Given the description of an element on the screen output the (x, y) to click on. 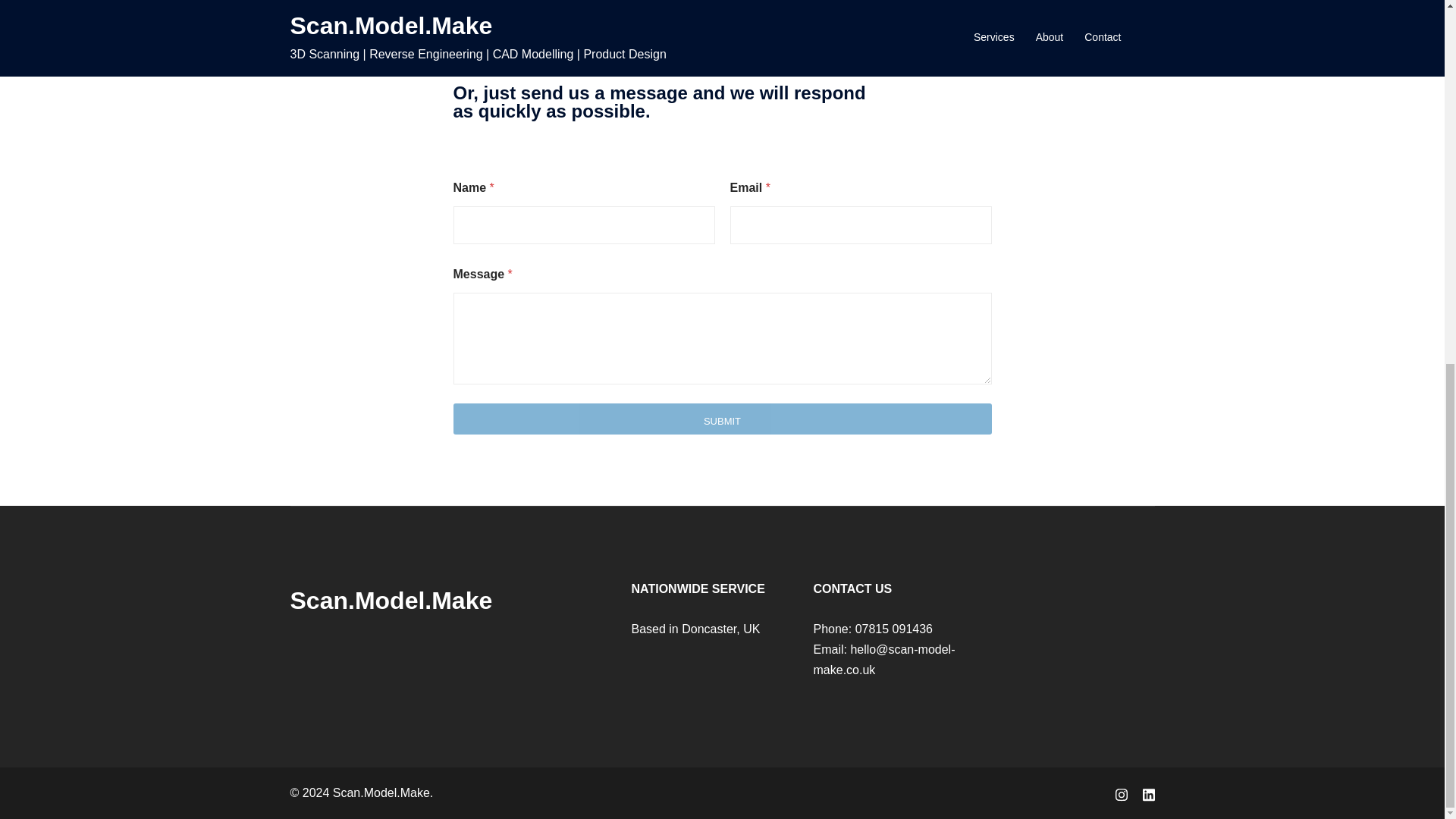
SUBMIT (721, 418)
